Given the description of an element on the screen output the (x, y) to click on. 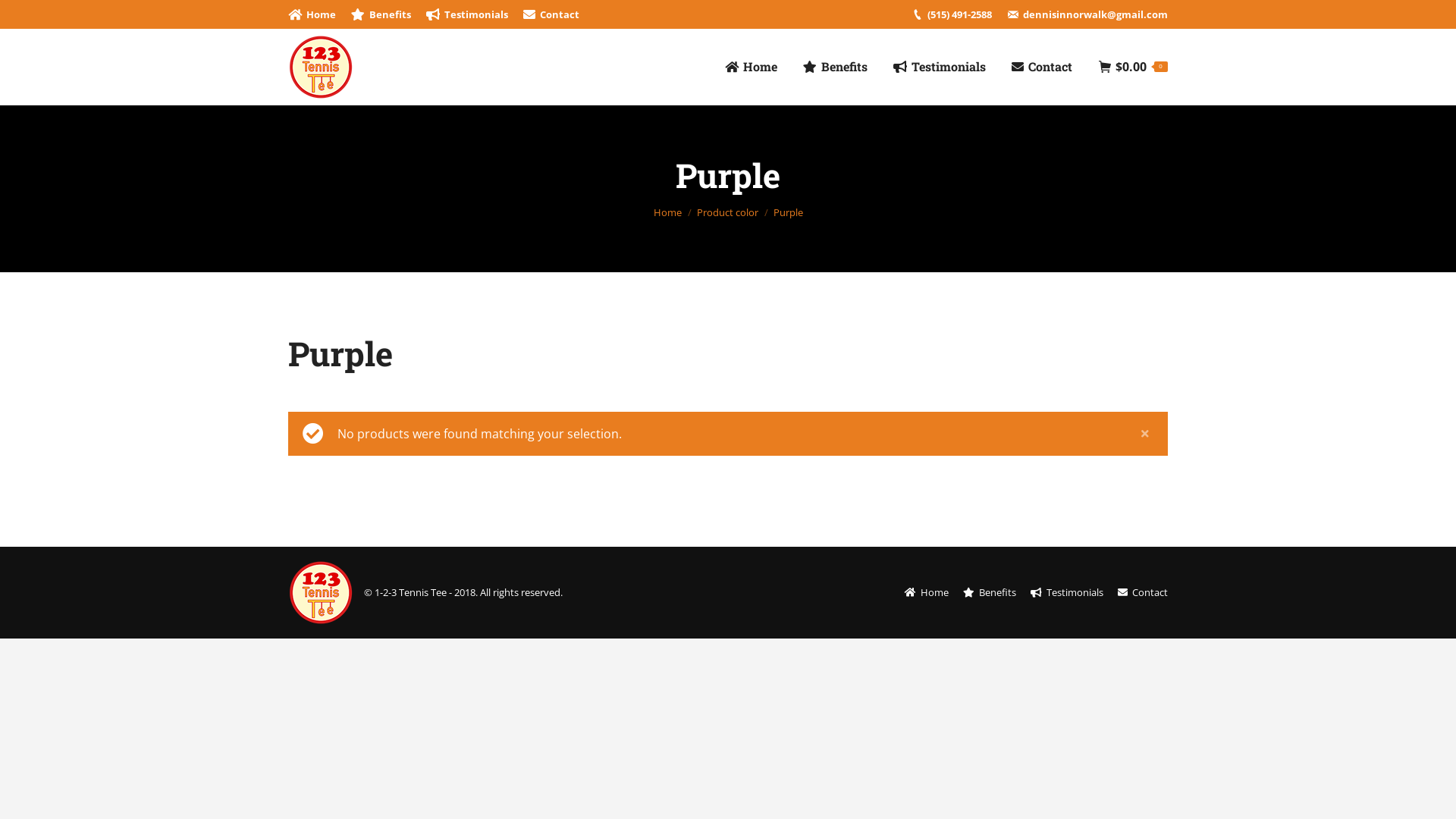
Benefits Element type: text (835, 66)
Home Element type: text (667, 211)
Testimonials Element type: text (939, 66)
Benefits Element type: text (989, 592)
(515) 491-2588 Element type: text (959, 14)
dennisinnorwalk@gmail.com Element type: text (1094, 14)
Contact Element type: text (1041, 66)
Testimonials Element type: text (467, 14)
Testimonials Element type: text (1066, 592)
$0.00
0 Element type: text (1132, 66)
Benefits Element type: text (381, 14)
Contact Element type: text (1142, 592)
Home Element type: text (311, 14)
Home Element type: text (750, 66)
Contact Element type: text (551, 14)
Home Element type: text (926, 592)
